Given the description of an element on the screen output the (x, y) to click on. 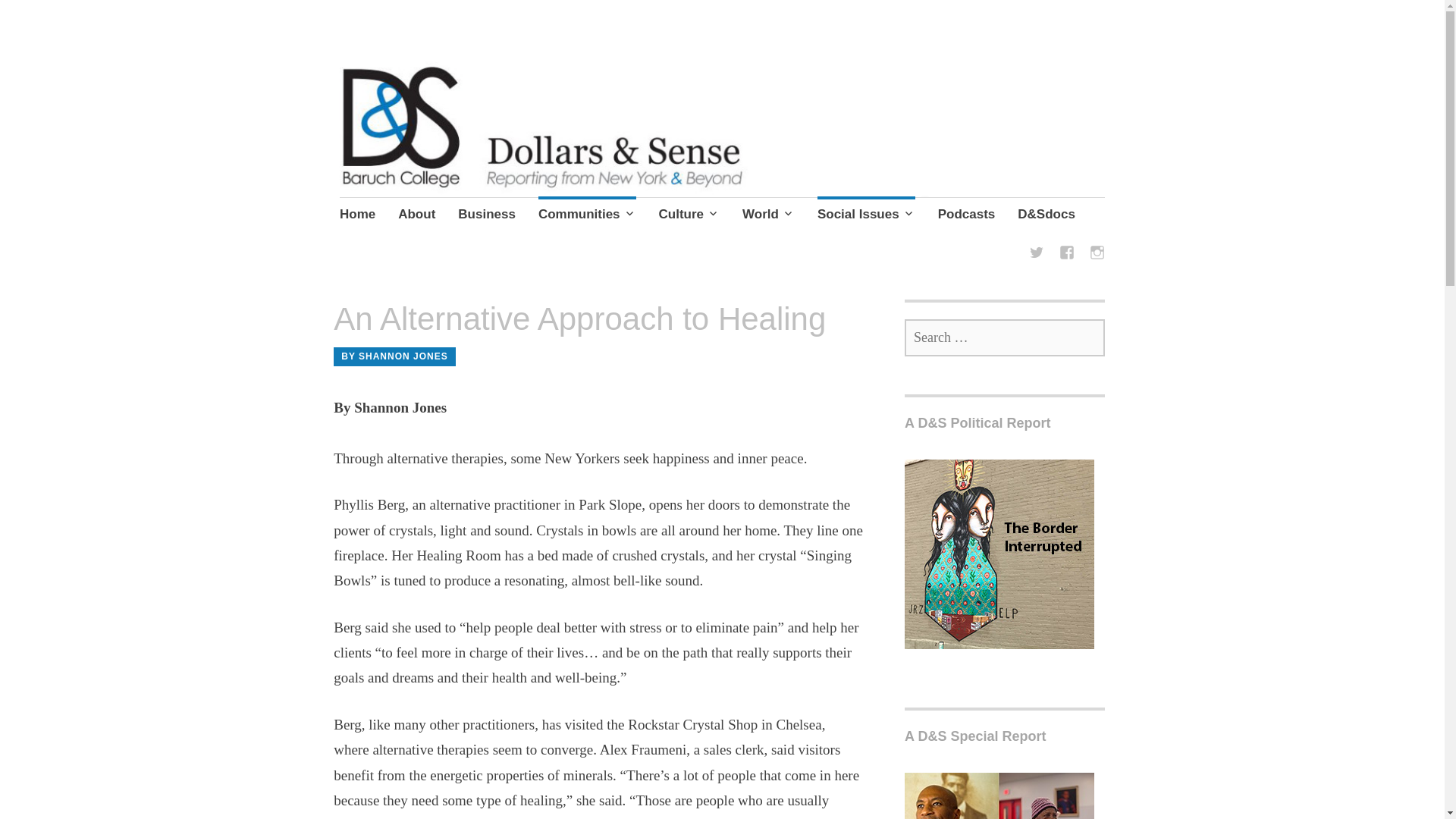
Business (486, 215)
About (416, 215)
Home (357, 215)
Communities (587, 215)
